Given the description of an element on the screen output the (x, y) to click on. 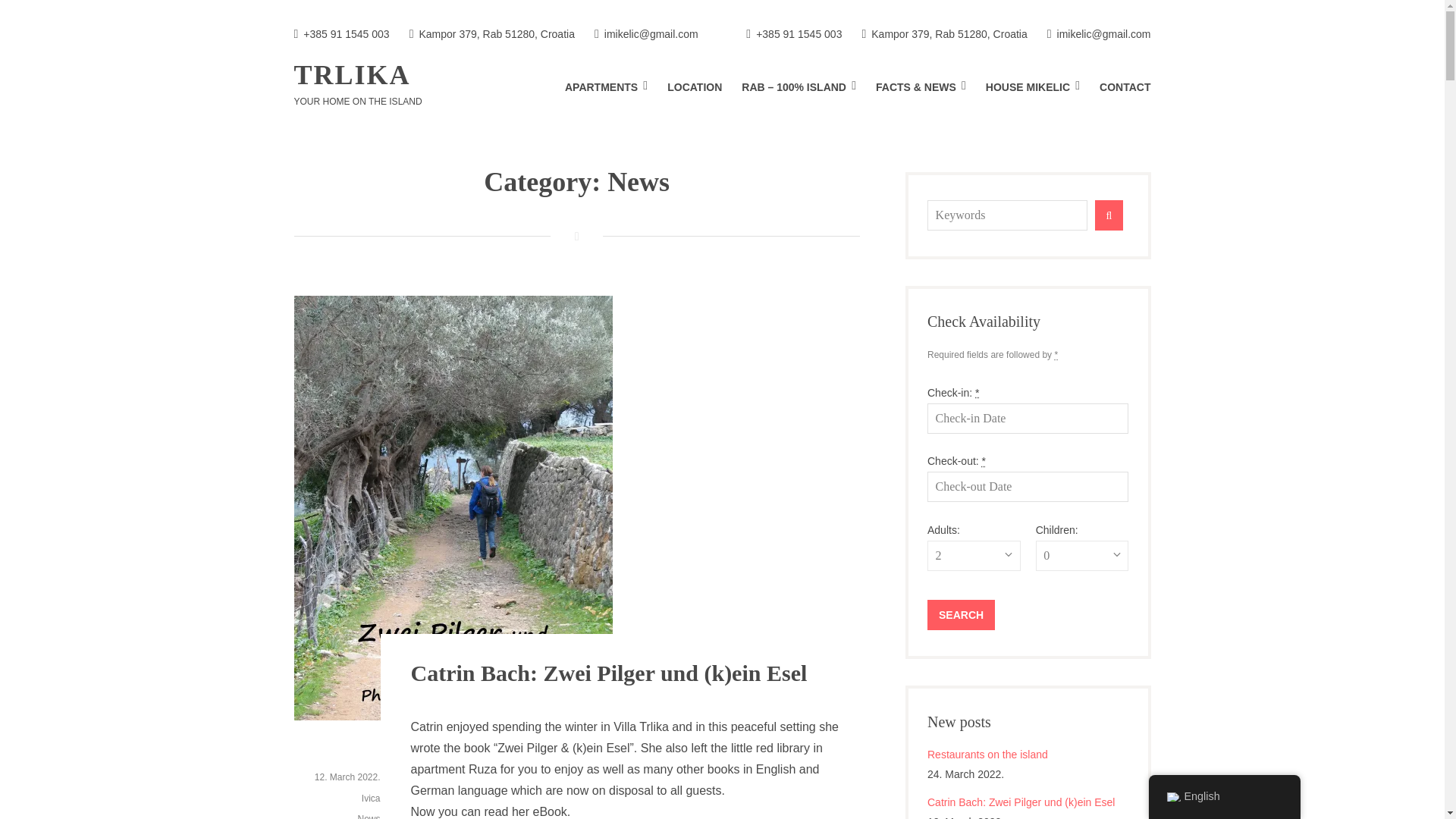
Kampor 379, Rab 51280, Croatia (943, 34)
Kampor 379, Rab 51280, Croatia (492, 34)
APARTMENTS (605, 87)
TRLIKA (352, 74)
Search (960, 614)
HOUSE MIKELIC (1032, 87)
LOCATION (694, 87)
